Given the description of an element on the screen output the (x, y) to click on. 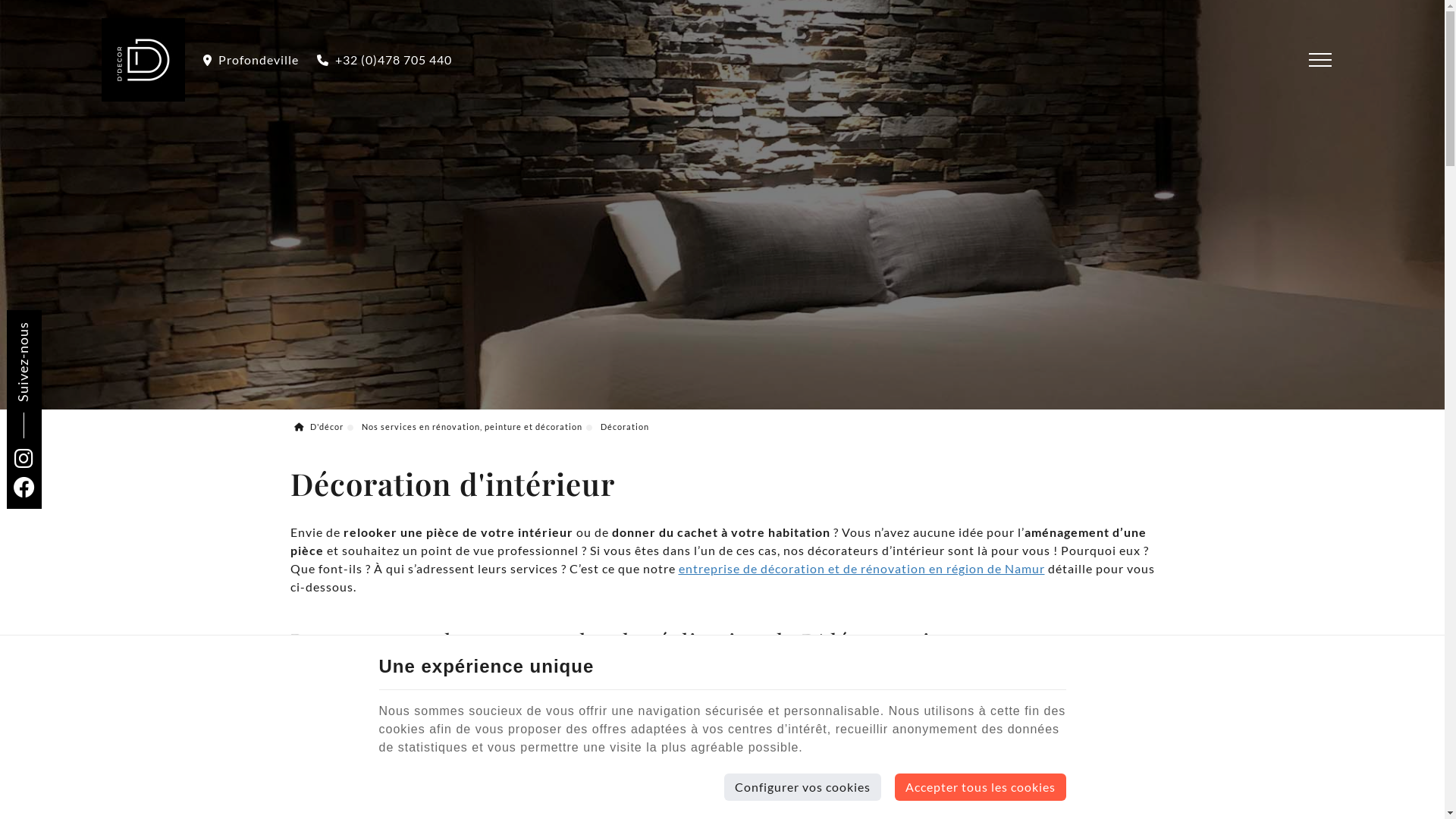
Profondeville Element type: text (250, 59)
Accepter tous les cookies Element type: text (980, 786)
Configurer vos cookies Element type: text (802, 786)
+32 (0)478 705 440 Element type: text (383, 59)
